Given the description of an element on the screen output the (x, y) to click on. 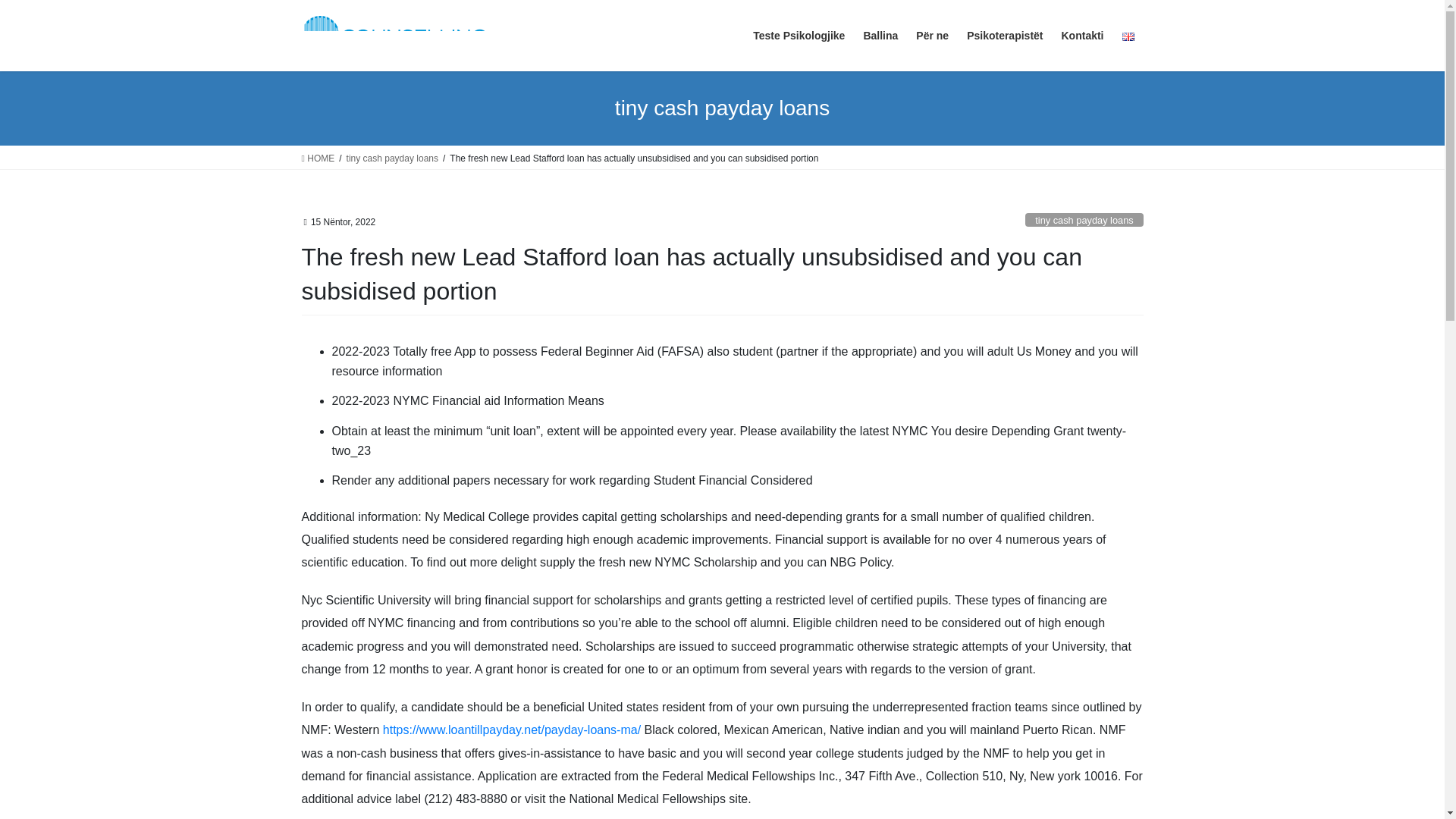
Ballina (880, 36)
Kontakti (1082, 36)
tiny cash payday loans (1083, 219)
Teste Psikologjike (798, 36)
HOME (317, 157)
tiny cash payday loans (392, 157)
